Given the description of an element on the screen output the (x, y) to click on. 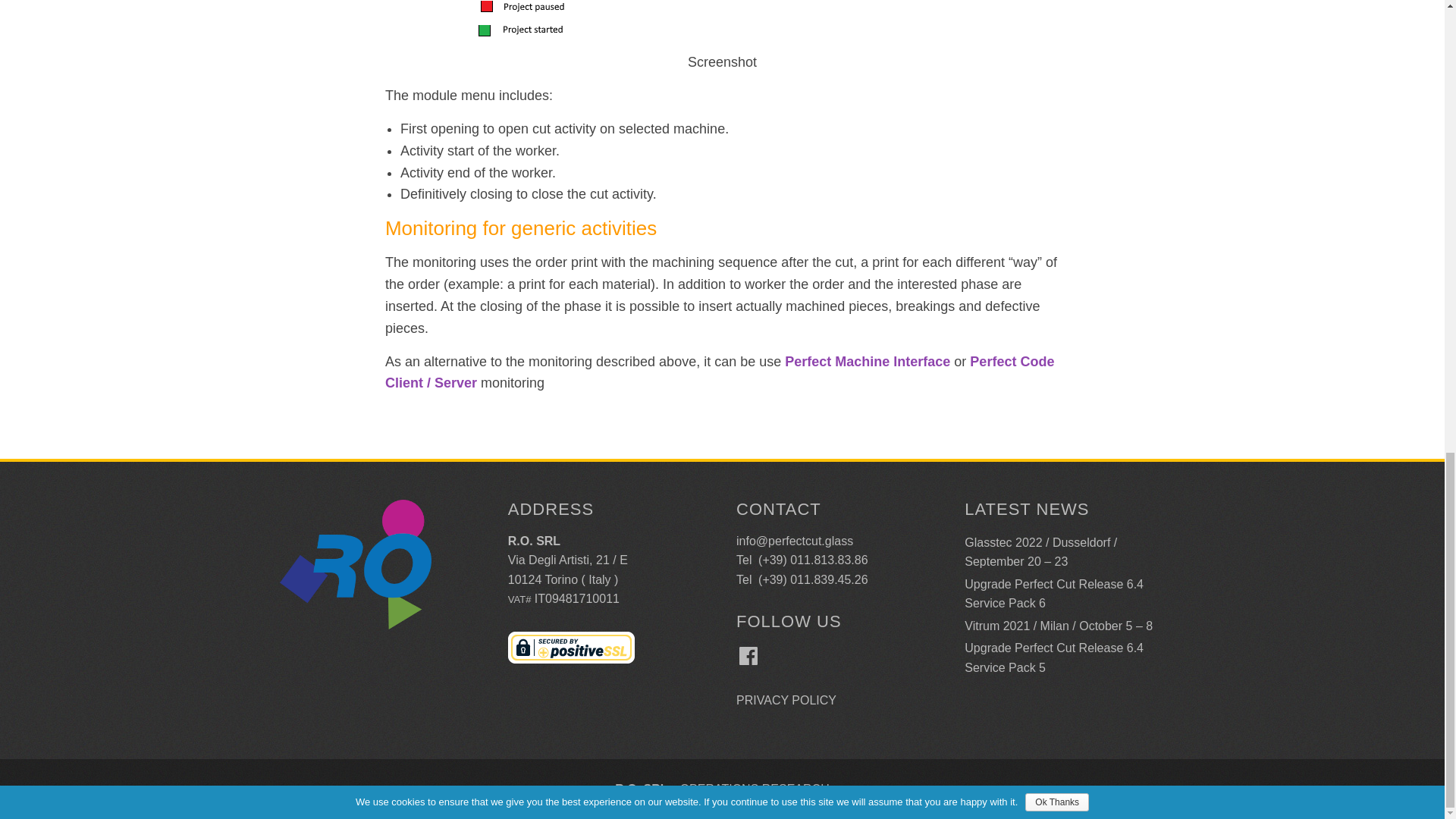
Logo RO (354, 564)
CONTACT (778, 508)
Facebook (748, 655)
Perfect Machine Interface (867, 361)
